Given the description of an element on the screen output the (x, y) to click on. 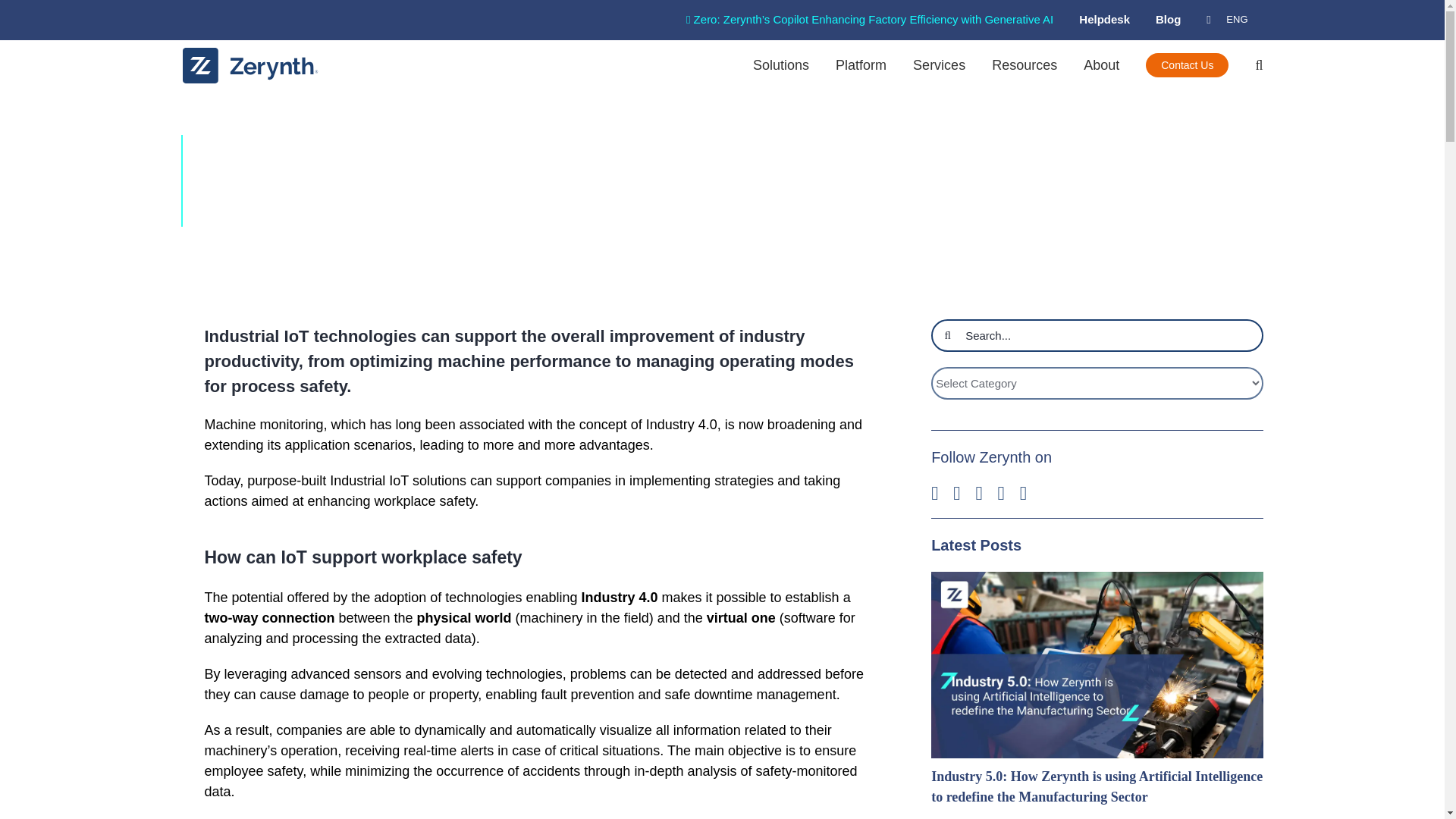
ENG (1229, 19)
Solutions (780, 65)
Helpdesk (1106, 19)
Blog (1170, 19)
Posts by Matteo Cipriani (249, 213)
Platform (860, 65)
